Given the description of an element on the screen output the (x, y) to click on. 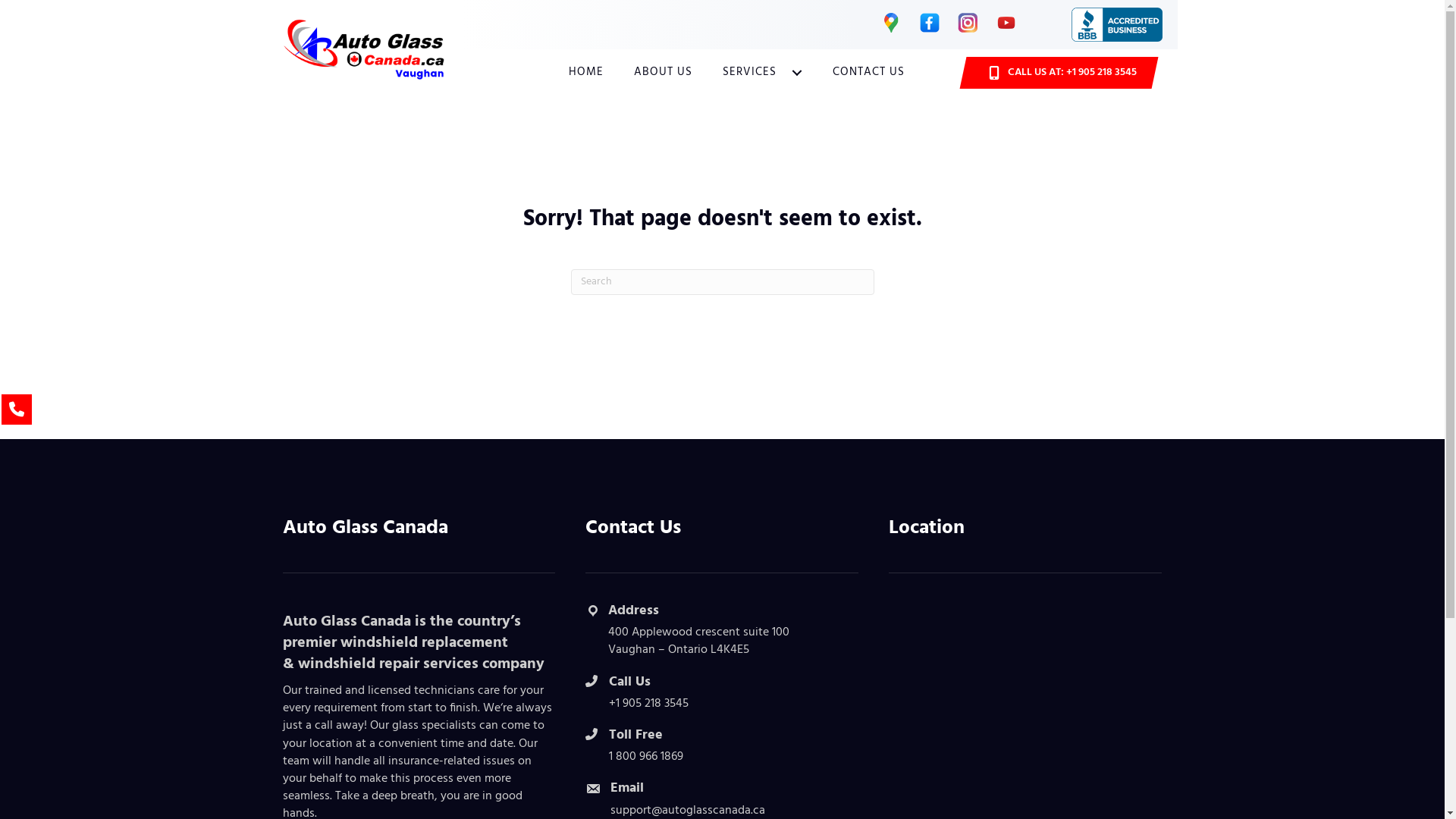
Toll Free
1 800 966 1869 Element type: text (721, 746)
HOME Element type: text (585, 72)
SERVICES Element type: text (762, 72)
Beter BB-Logo Element type: hover (1115, 24)
windshield repair services company Element type: text (420, 664)
Call Us
+1 905 218 3545 Element type: text (721, 693)
CALL US AT: +1 905 218 3545 Element type: text (1058, 72)
Type and press Enter to search. Element type: hover (721, 281)
ABOUT US Element type: text (662, 72)
logo_autoglass_vaughan Element type: hover (364, 48)
CONTACT US Element type: text (868, 72)
